Given the description of an element on the screen output the (x, y) to click on. 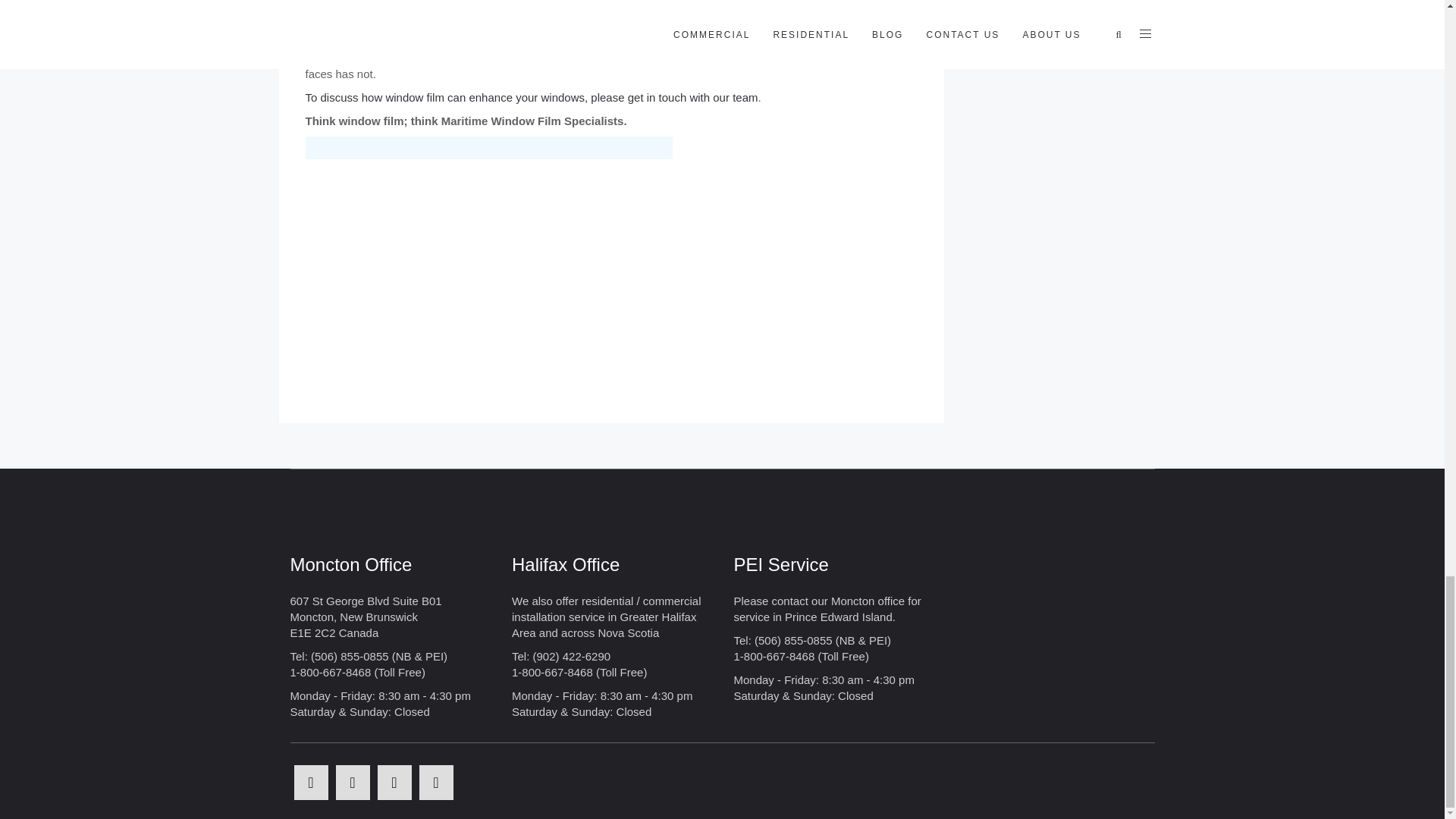
Twitter (351, 783)
Follow us on Instagram (435, 783)
Follow us on Pinterest (394, 783)
Facebook (311, 783)
